Given the description of an element on the screen output the (x, y) to click on. 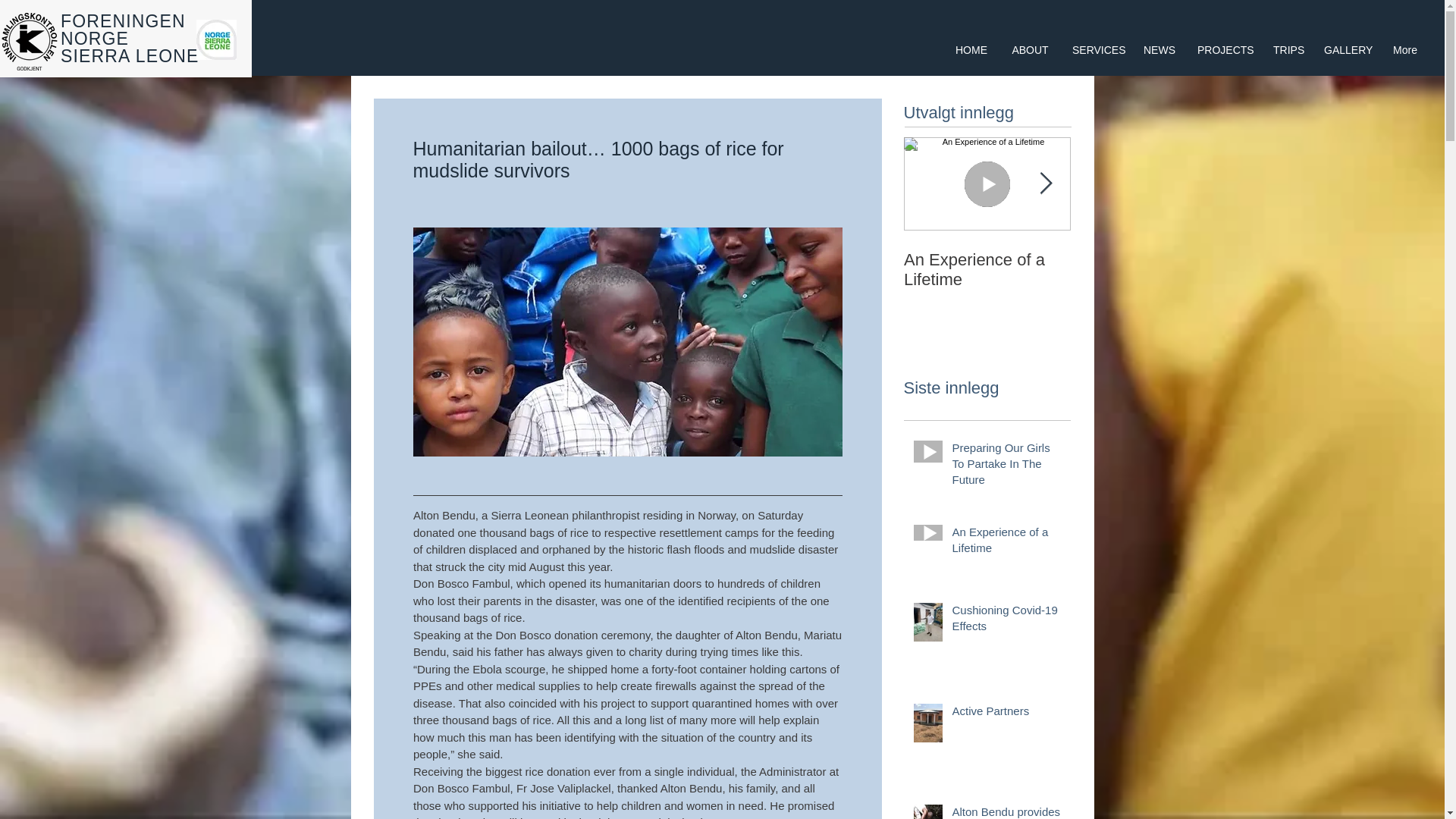
HOME (970, 50)
NEWS (987, 244)
TRIPS (1159, 50)
Active Partners (1287, 50)
An Experience of a Lifetime (1006, 713)
ABOUT (987, 269)
SERVICES (1029, 50)
GALLERY (1096, 50)
FORENINGEN (1346, 50)
An Experience of a Lifetime (123, 21)
PROJECTS (1006, 542)
Cushioning Covid-19 Effects (1224, 50)
Preparing Our Girls To Partake In The Future (1006, 620)
